Given the description of an element on the screen output the (x, y) to click on. 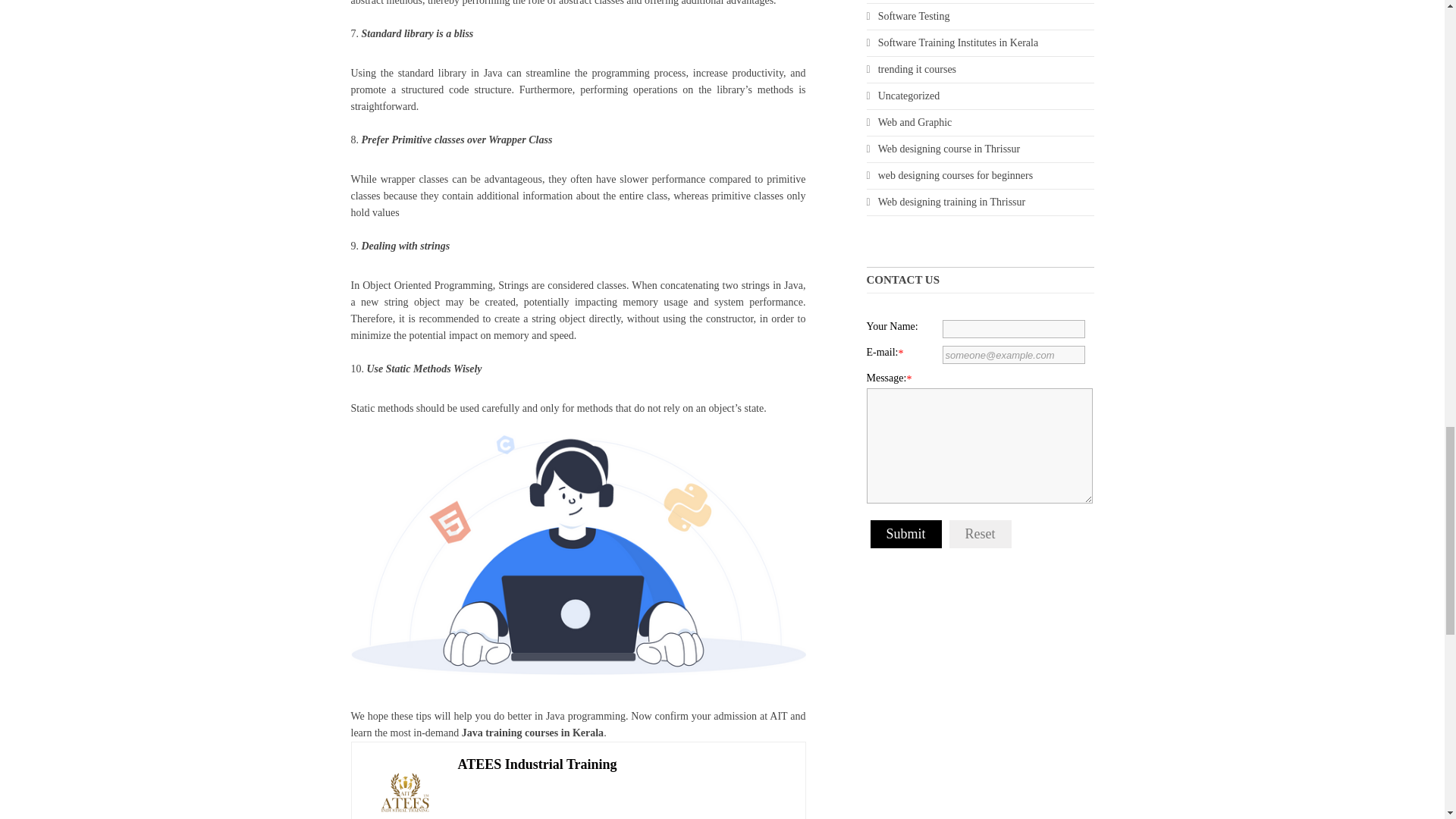
Java training courses in Kerala (532, 732)
ATEES Industrial Training (537, 764)
